Given the description of an element on the screen output the (x, y) to click on. 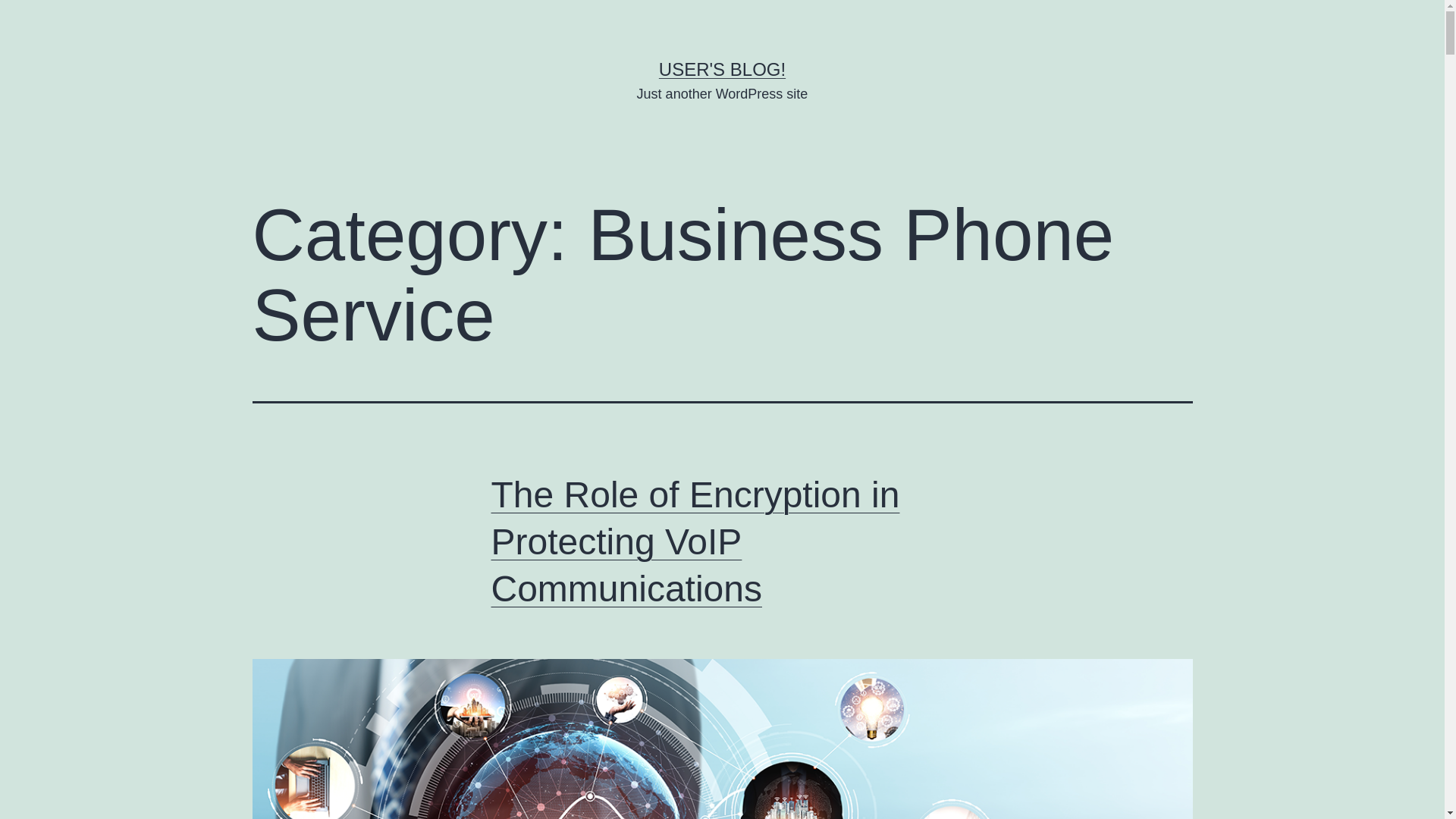
The Role of Encryption in Protecting VoIP Communications (695, 542)
USER'S BLOG! (722, 68)
